Given the description of an element on the screen output the (x, y) to click on. 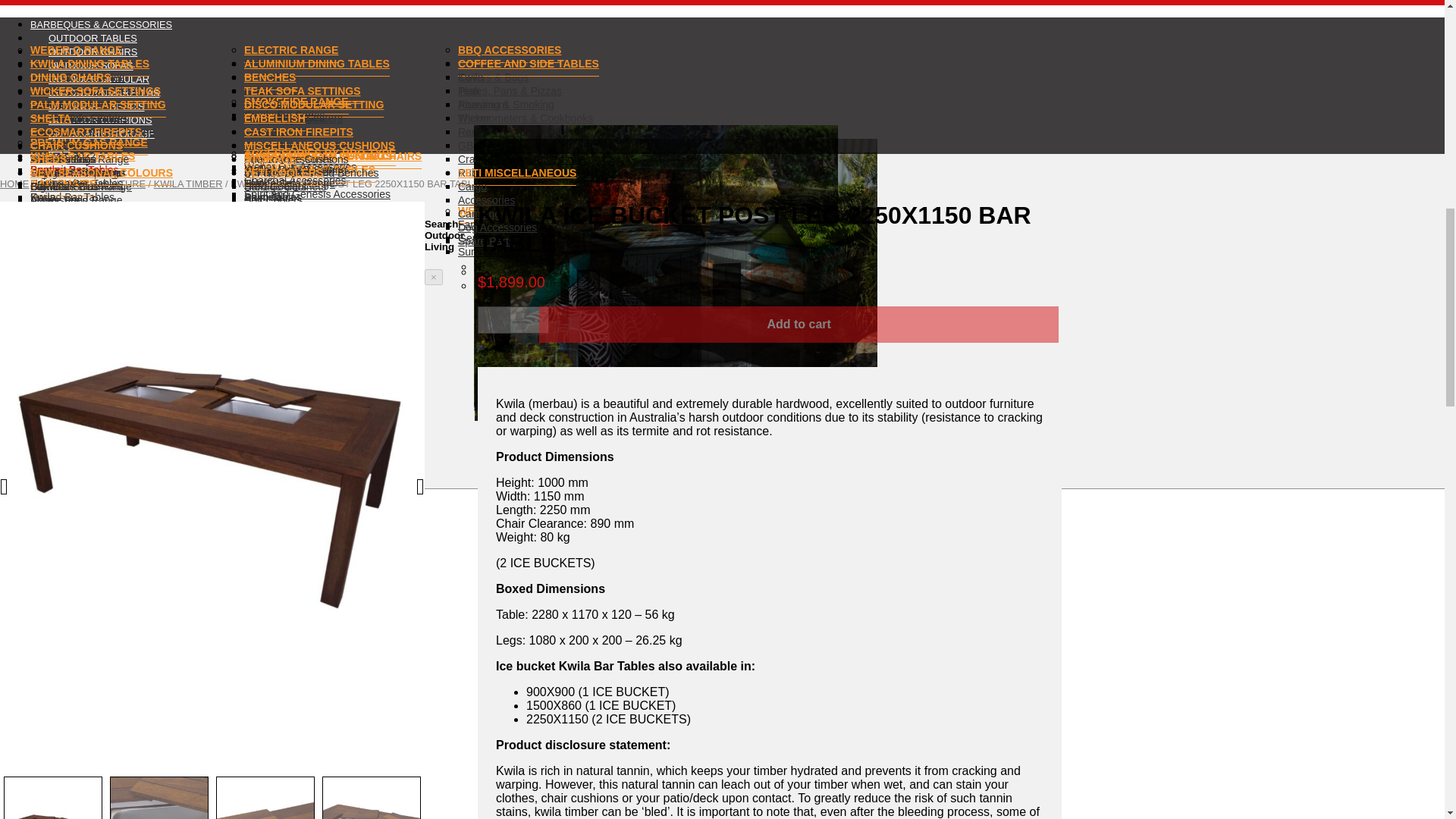
1 (512, 319)
